Given the description of an element on the screen output the (x, y) to click on. 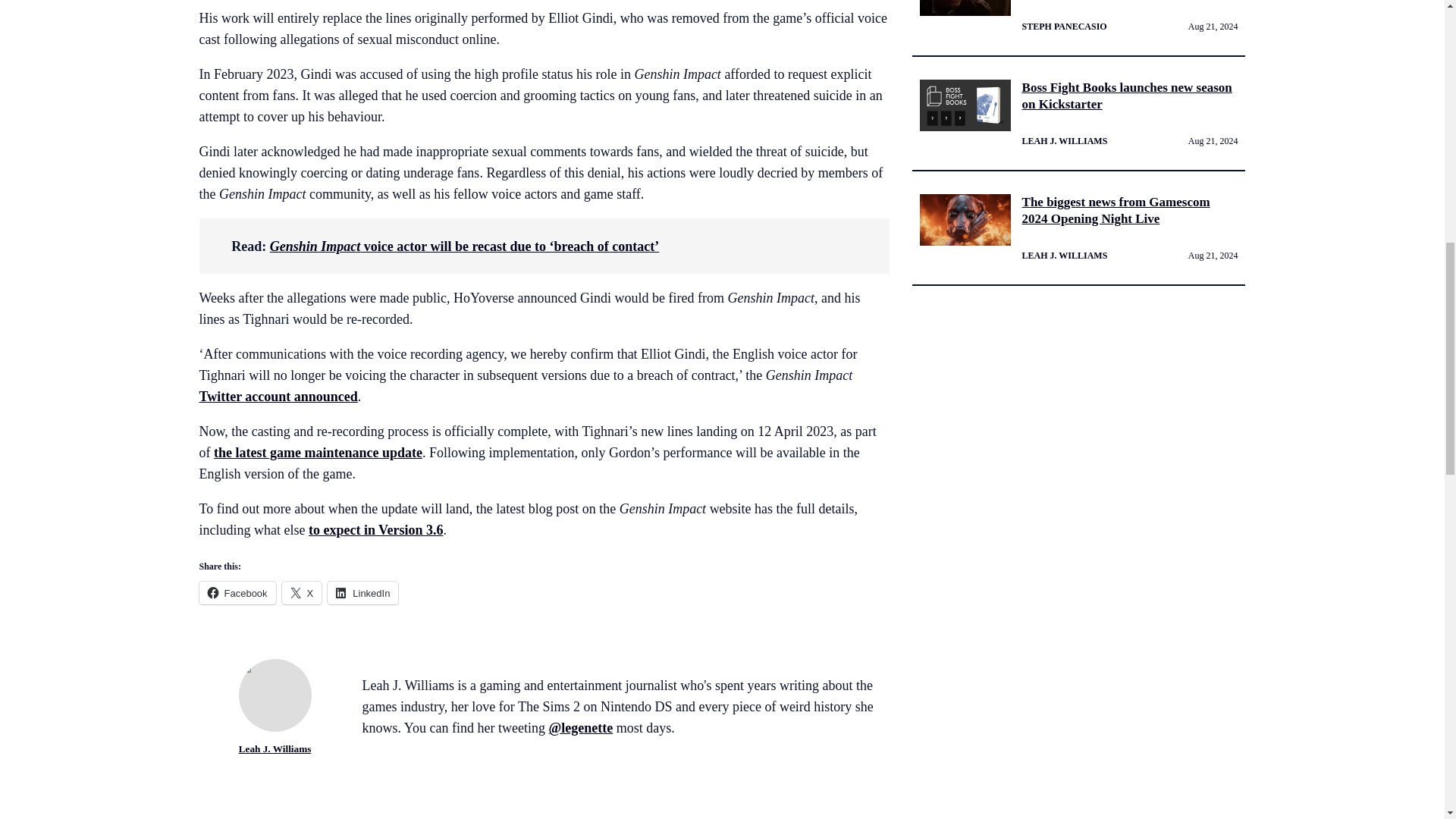
Click to share on X (301, 592)
Click to share on LinkedIn (362, 592)
Click to share on Facebook (236, 592)
